Given the description of an element on the screen output the (x, y) to click on. 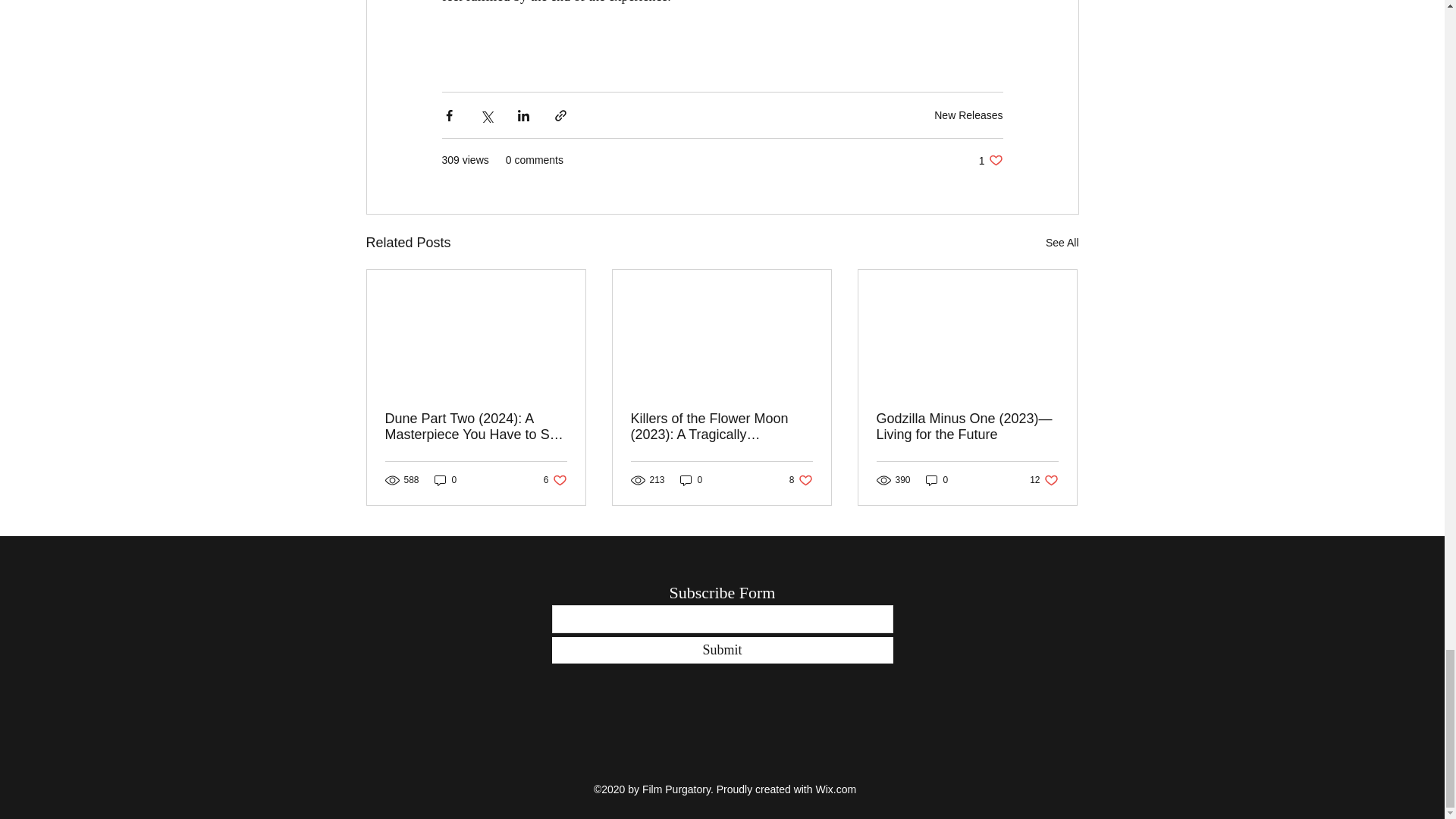
0 (445, 480)
New Releases (968, 114)
0 (990, 160)
See All (555, 480)
